Given the description of an element on the screen output the (x, y) to click on. 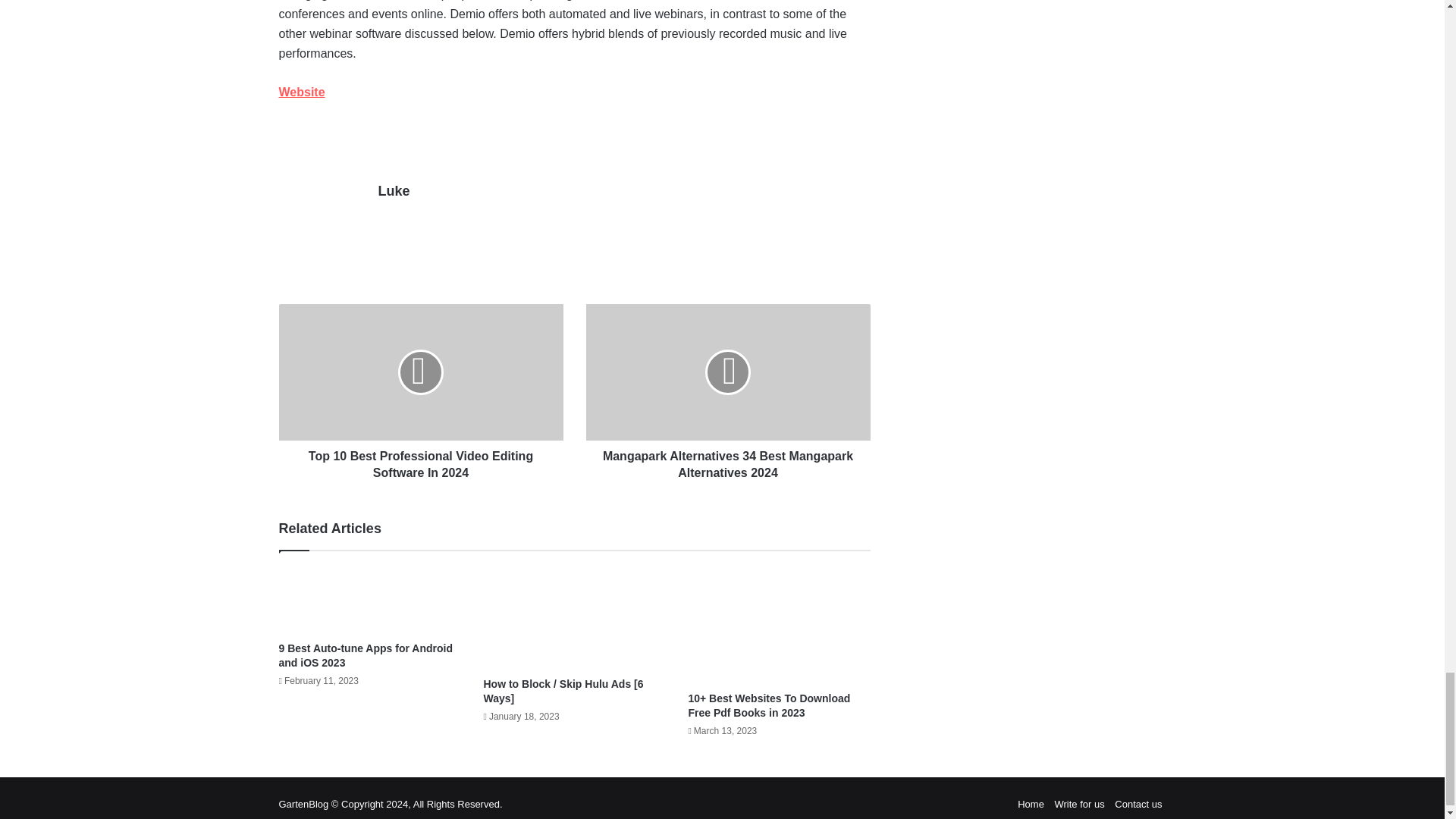
Top 10 Best Professional Video Editing Software In 2024 (421, 371)
Top 10 Best Professional Video Editing Software In 2024 (421, 460)
Luke (393, 191)
Mangapark Alternatives 34 Best Mangapark Alternatives 2024 (727, 460)
Website (301, 91)
Mangapark Alternatives 34 Best Mangapark Alternatives 2024 (727, 371)
